Given the description of an element on the screen output the (x, y) to click on. 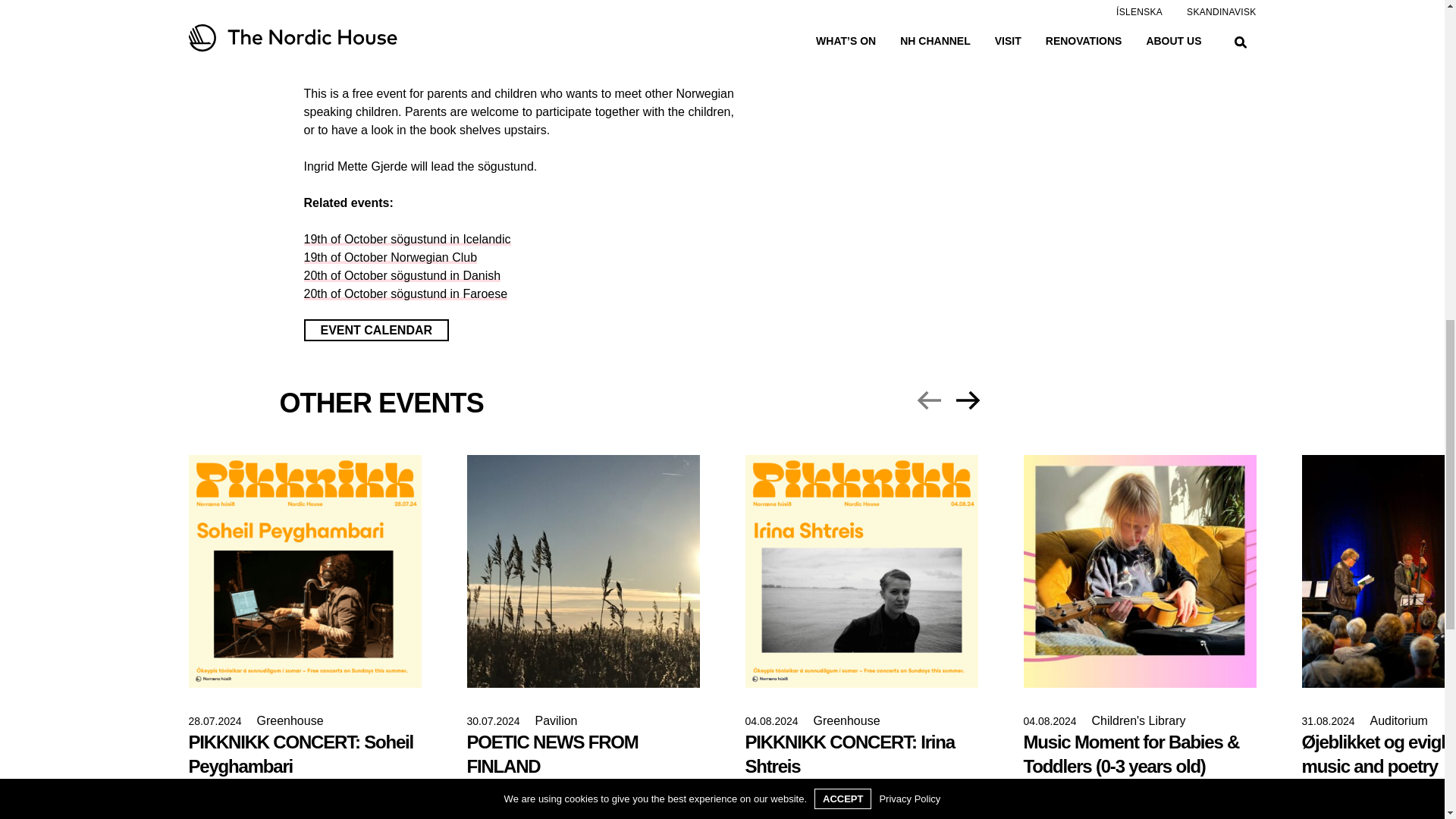
19th of October Norwegian Club (389, 256)
EVENT CALENDAR (375, 330)
